Given the description of an element on the screen output the (x, y) to click on. 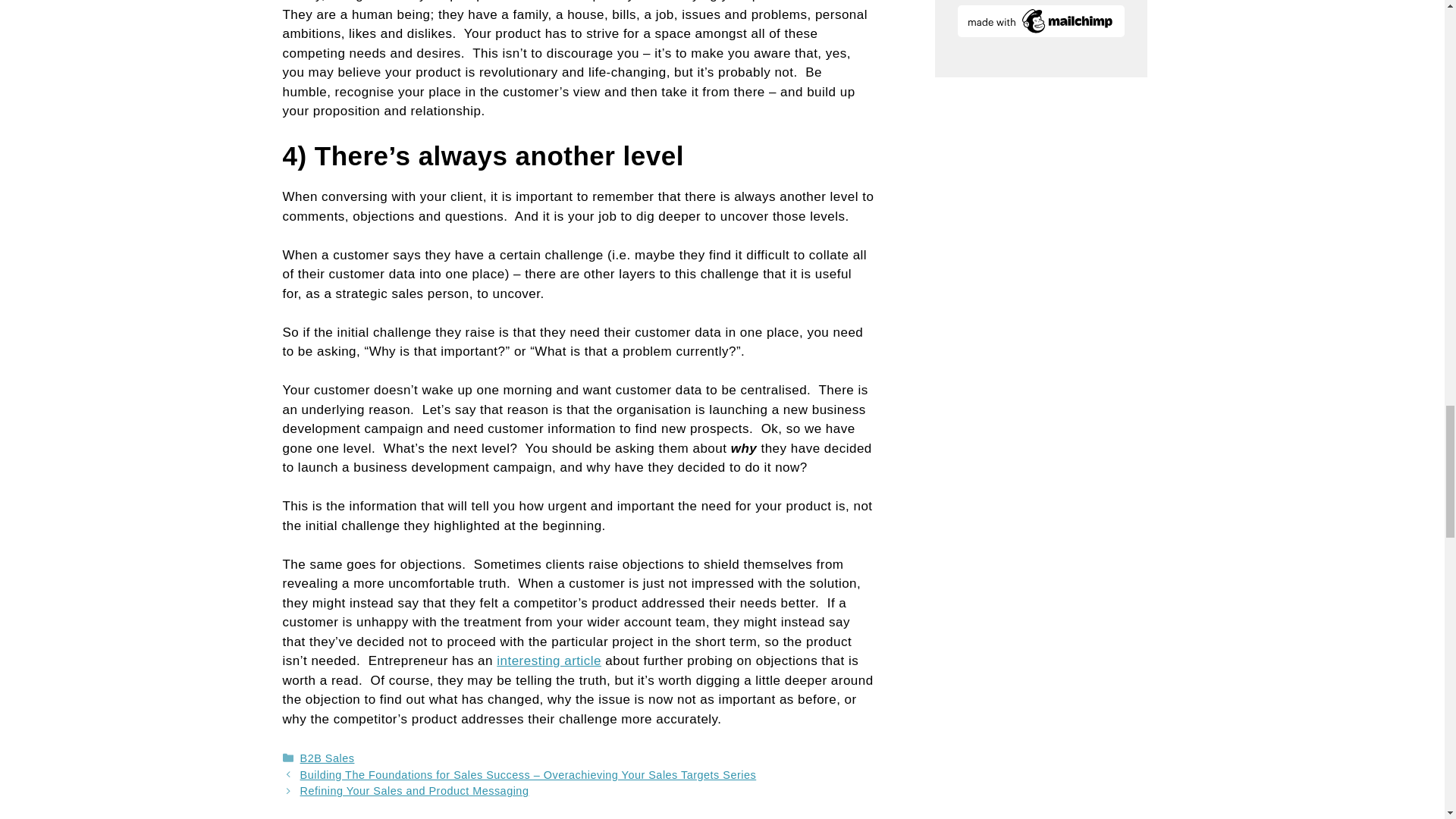
B2B Sales (327, 758)
Refining Your Sales and Product Messaging (414, 790)
Previous (528, 775)
Mailchimp - email marketing made easy and fun (1040, 32)
interesting article (548, 660)
Next (414, 790)
